Given the description of an element on the screen output the (x, y) to click on. 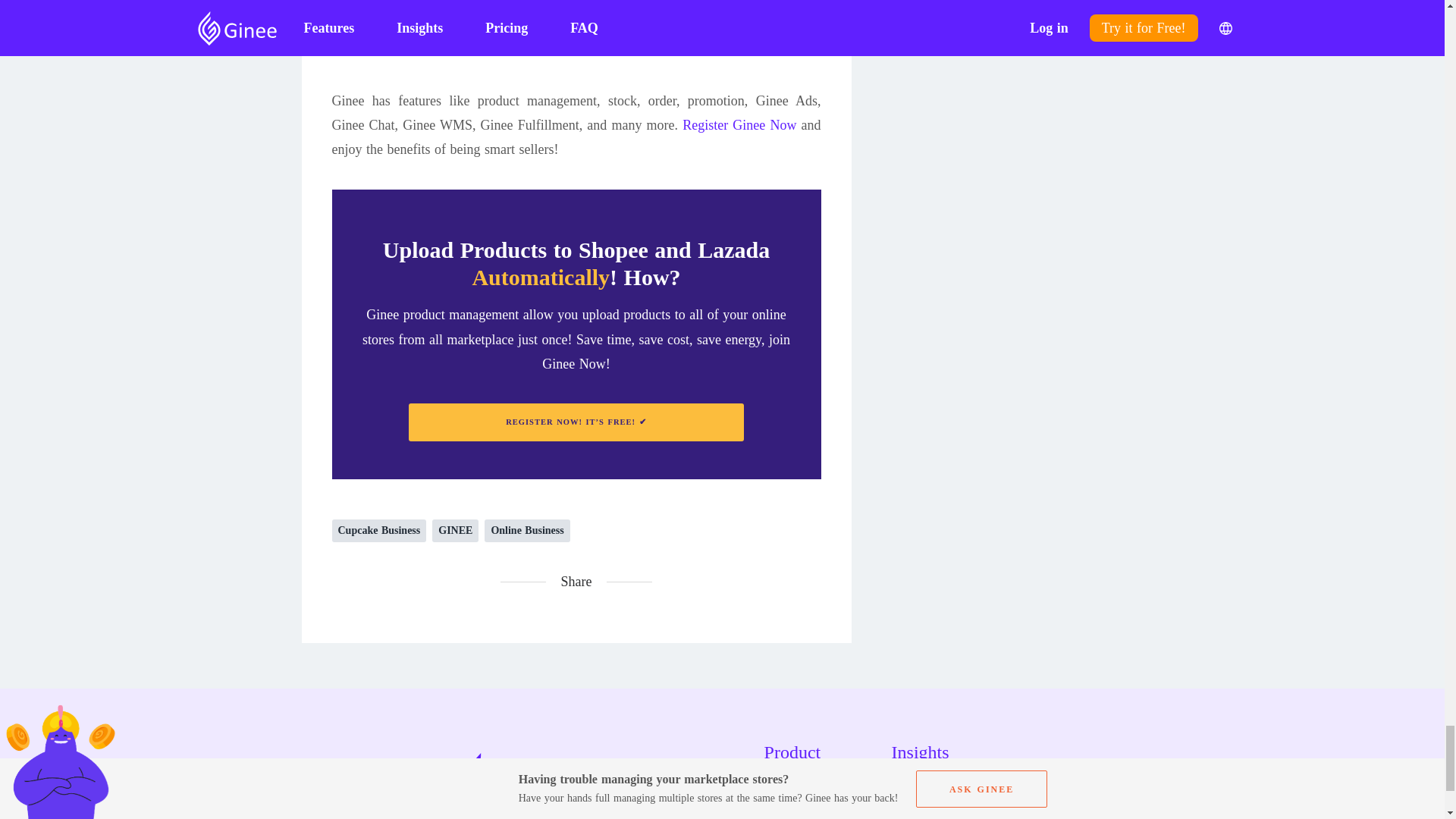
Online Business (526, 530)
GINEE (455, 530)
Marketplace News (952, 811)
Cupcake Business (378, 530)
Register Ginee Now (739, 124)
All News (952, 783)
Ginee Philippines (678, 3)
